Given the description of an element on the screen output the (x, y) to click on. 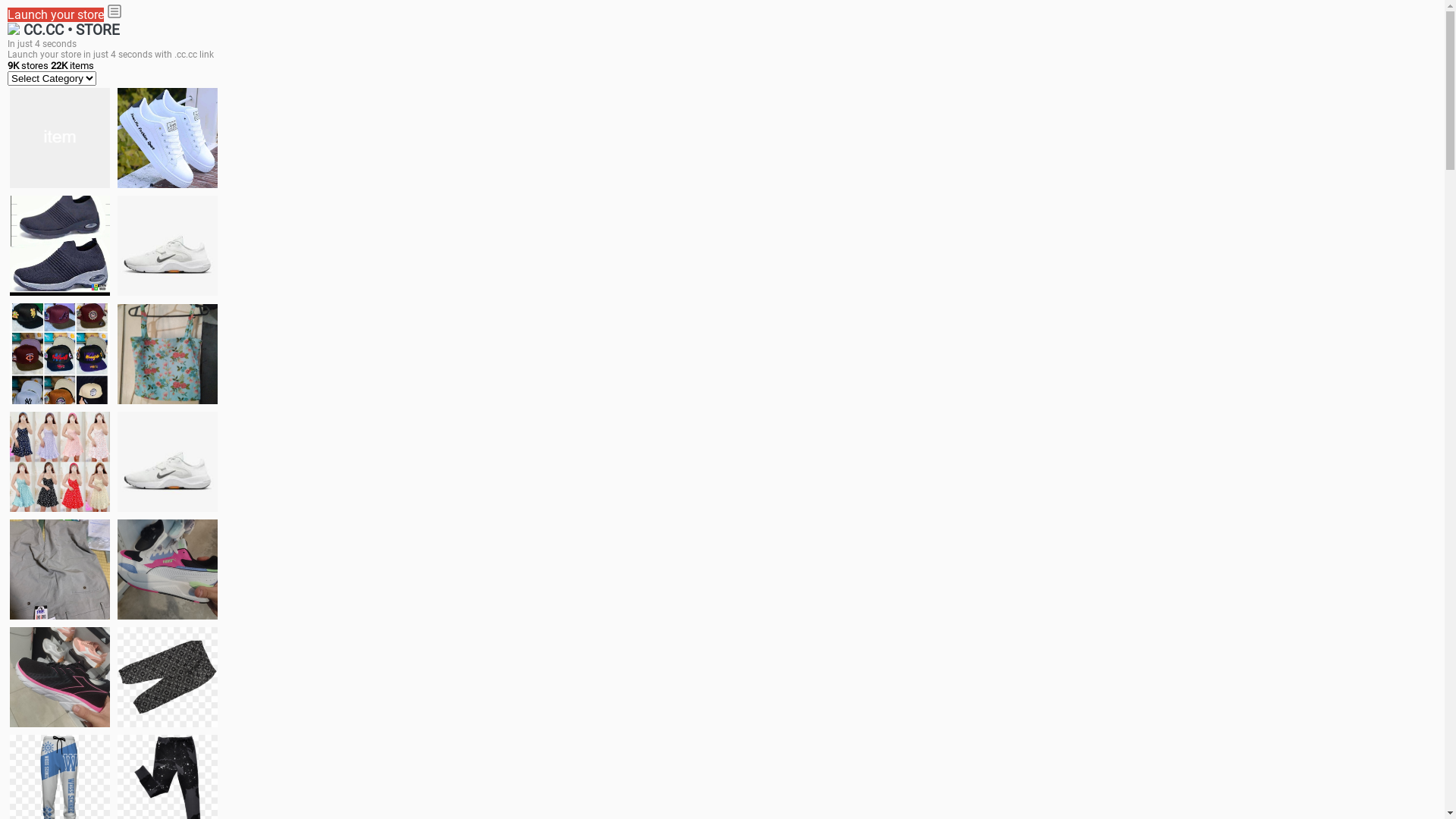
Launch your store Element type: text (55, 14)
Zapatillas Element type: hover (59, 677)
Things we need Element type: hover (59, 353)
Dress/square nect top Element type: hover (59, 461)
Shoes Element type: hover (167, 461)
Zapatillas pumas Element type: hover (167, 568)
white shoes Element type: hover (167, 137)
Short pant Element type: hover (167, 676)
Ukay cloth Element type: hover (167, 353)
shoes for boys Element type: hover (59, 245)
jacket Element type: hover (59, 137)
Shoes for boys Element type: hover (167, 245)
